Given the description of an element on the screen output the (x, y) to click on. 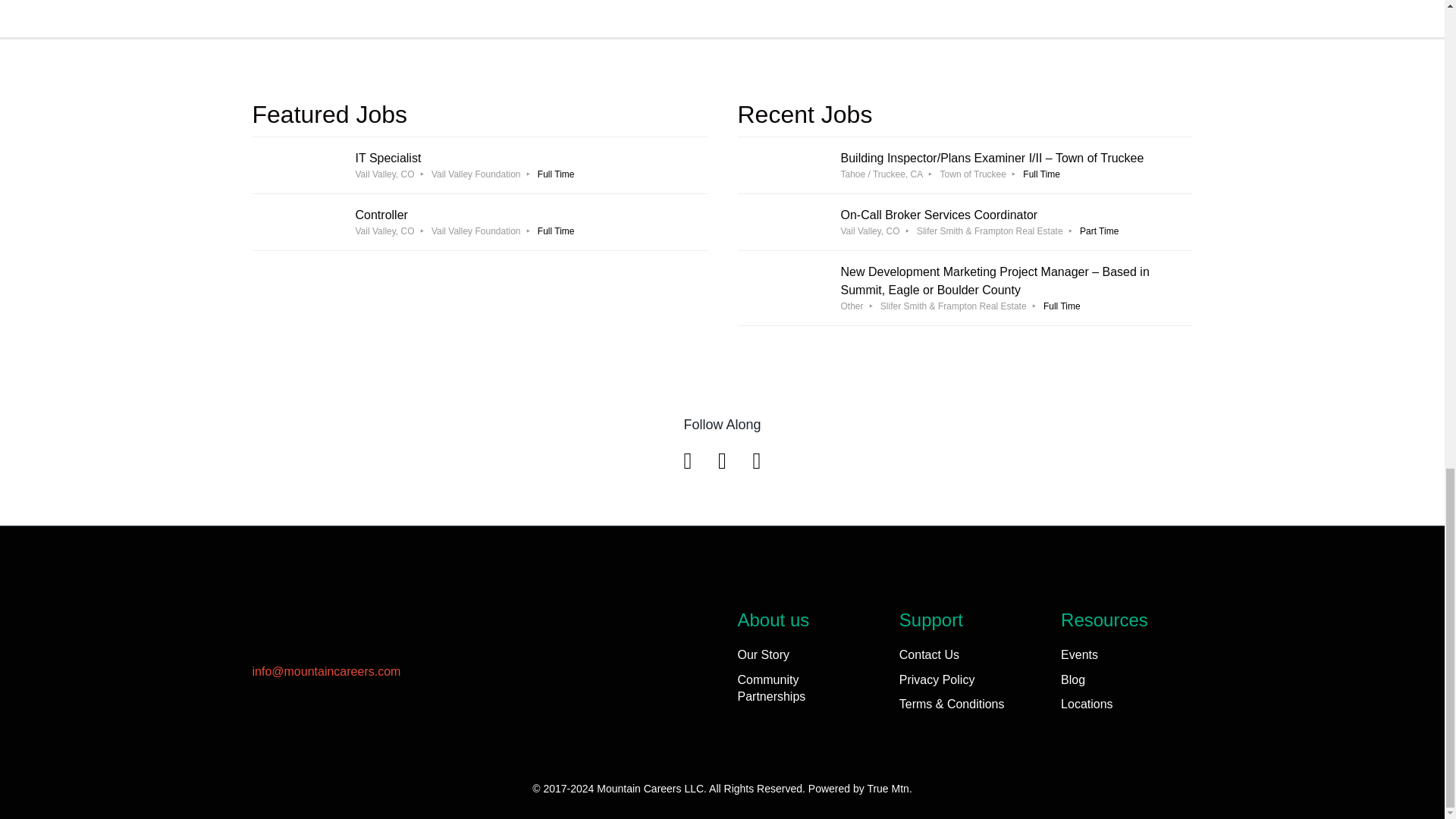
mountain careers white cropped (478, 222)
